Given the description of an element on the screen output the (x, y) to click on. 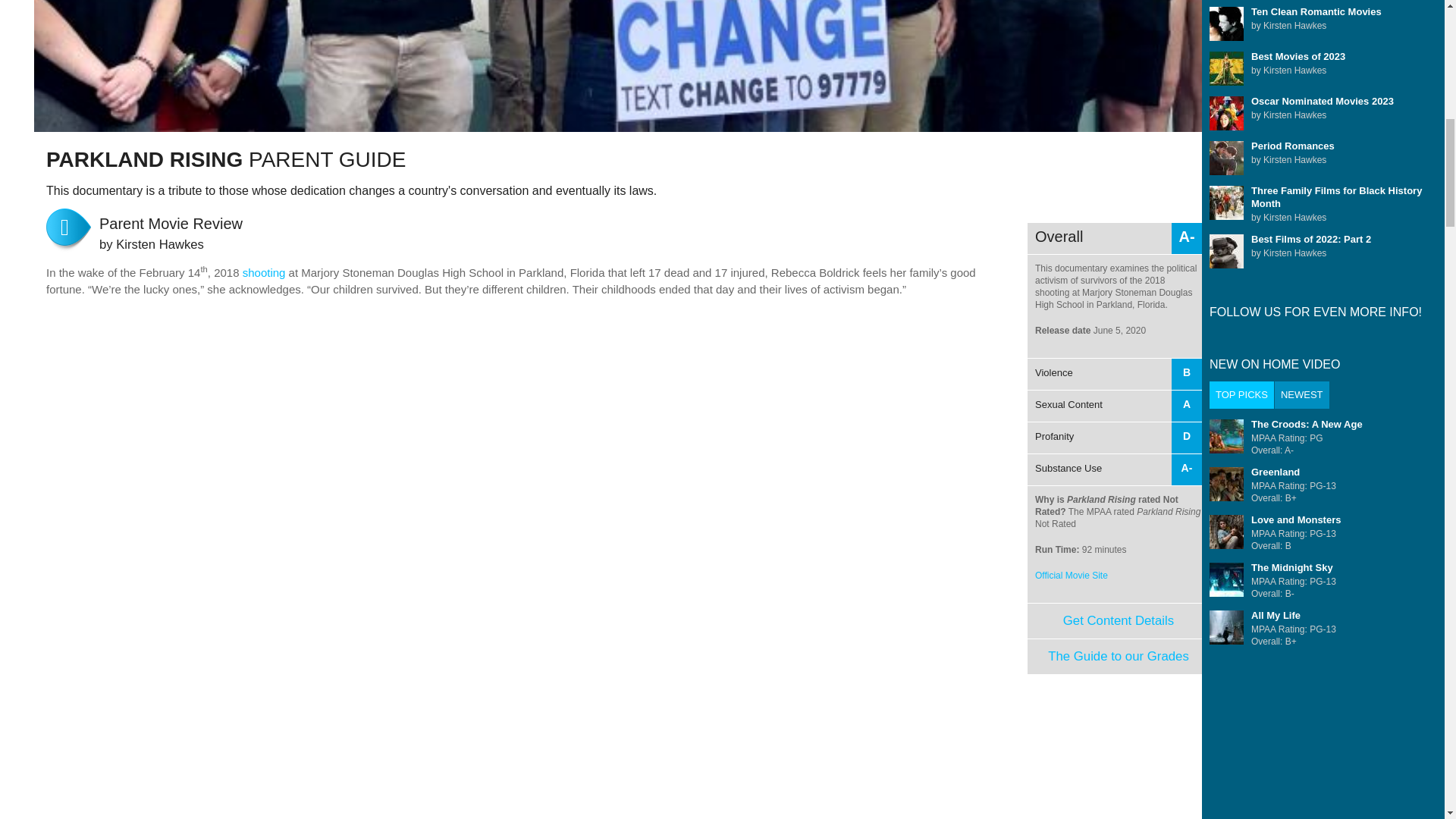
Official Movie Site (1114, 421)
The Guide to our Grades (1071, 575)
Get Content Details (1118, 656)
